Given the description of an element on the screen output the (x, y) to click on. 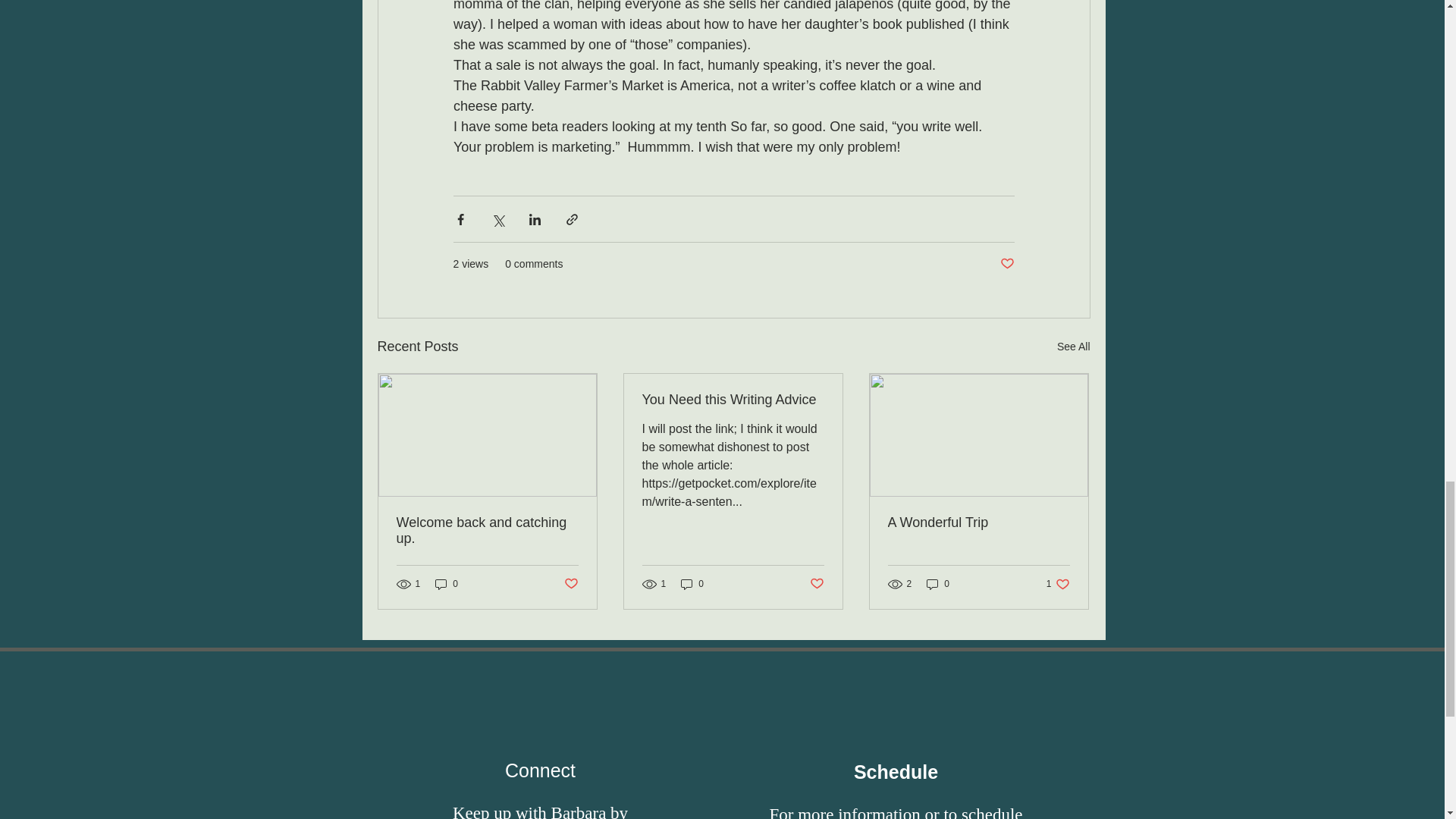
See All (1073, 346)
Welcome back and catching up. (487, 531)
Post not marked as liked (1005, 263)
